Given the description of an element on the screen output the (x, y) to click on. 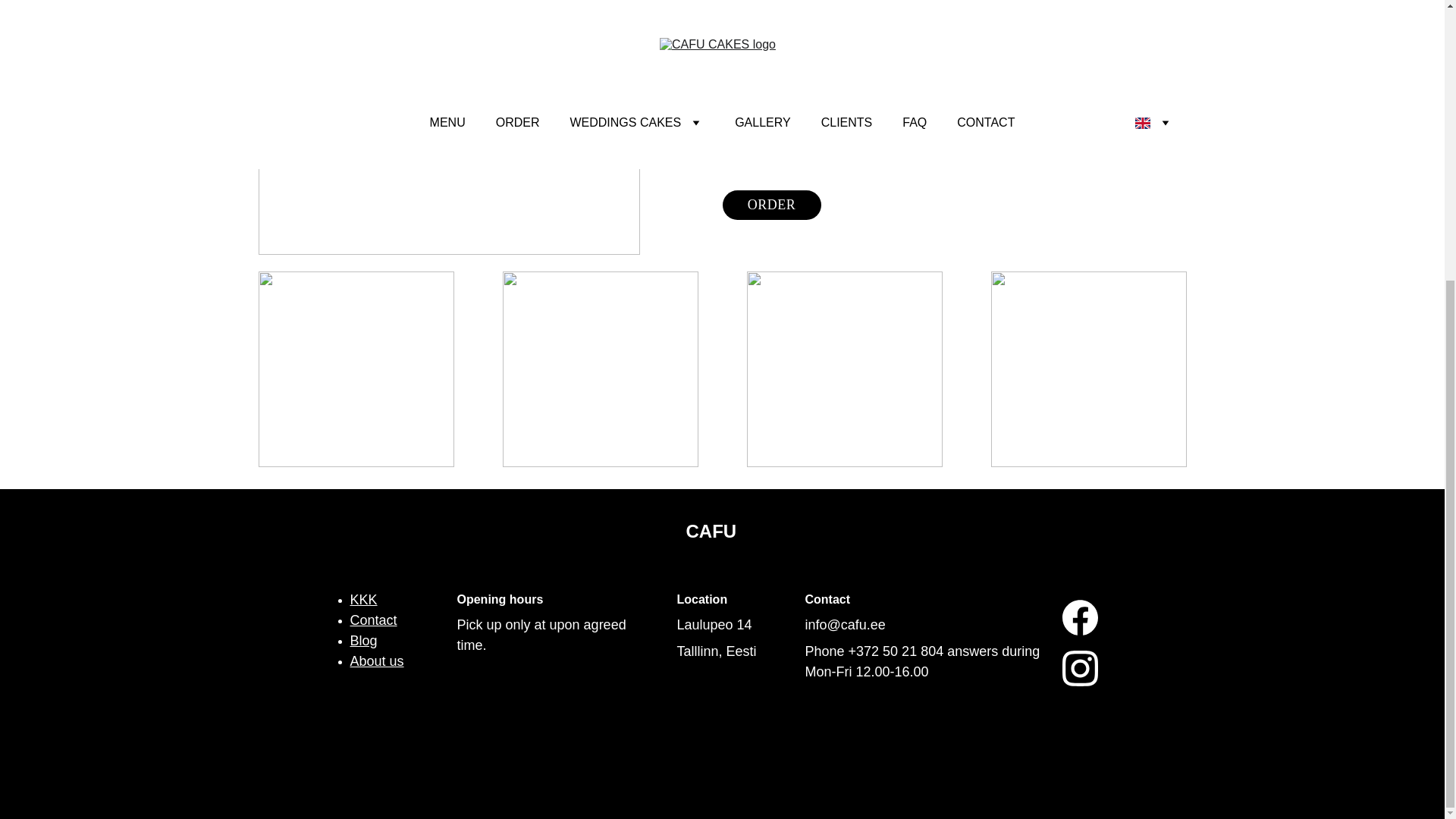
Go to Instagram page (1079, 668)
ORDER (771, 205)
About us (377, 661)
Blog (363, 640)
Go to Facebook page (1079, 624)
KKK (363, 599)
